Given the description of an element on the screen output the (x, y) to click on. 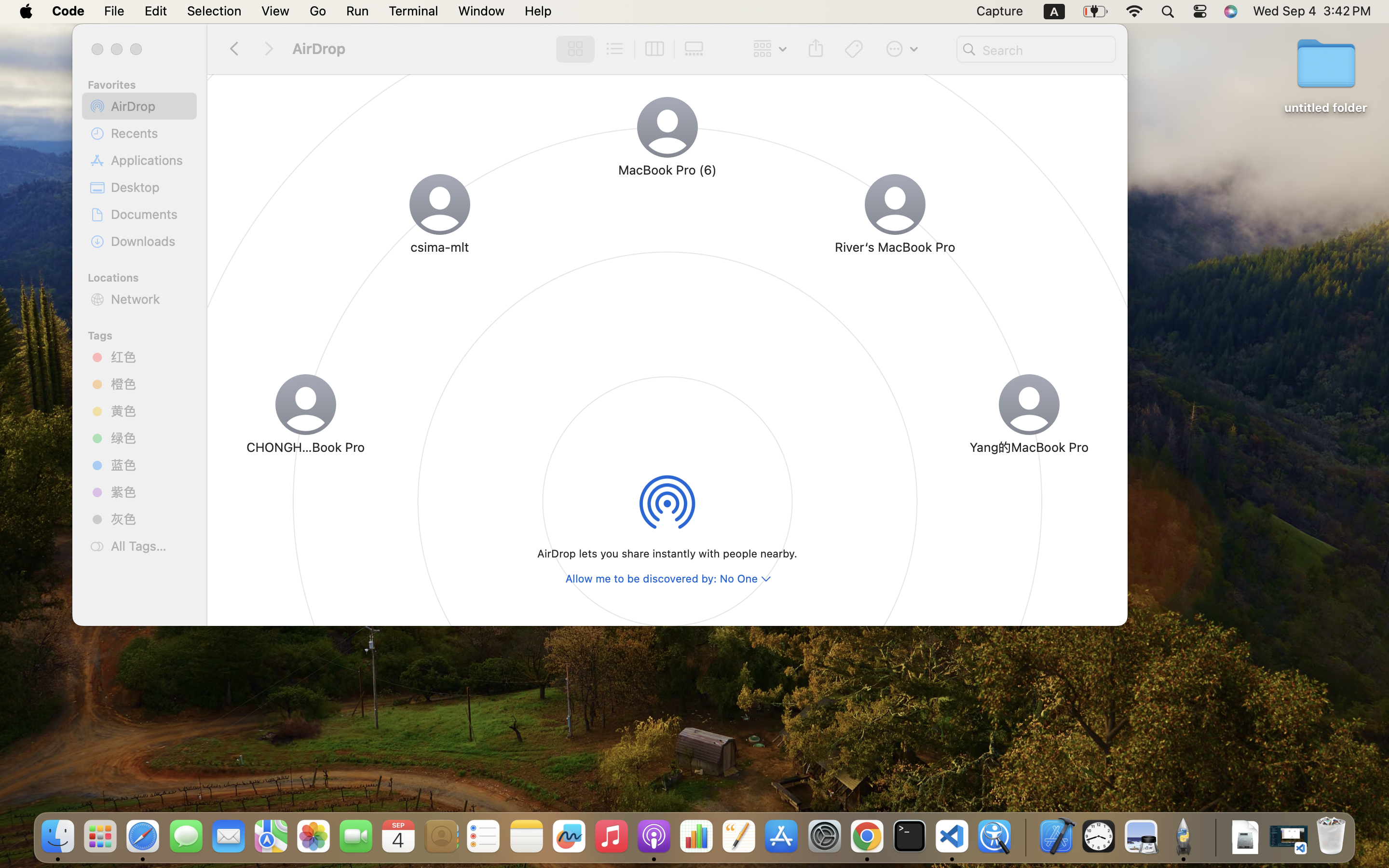
0 Element type: AXRadioButton (696, 48)
CHONGHAO’s MacBook Pro Element type: AXStaticText (305, 446)
Network Element type: AXStaticText (149, 298)
1 Element type: AXRadioButton (572, 48)
Favorites Element type: AXStaticText (144, 83)
